Given the description of an element on the screen output the (x, y) to click on. 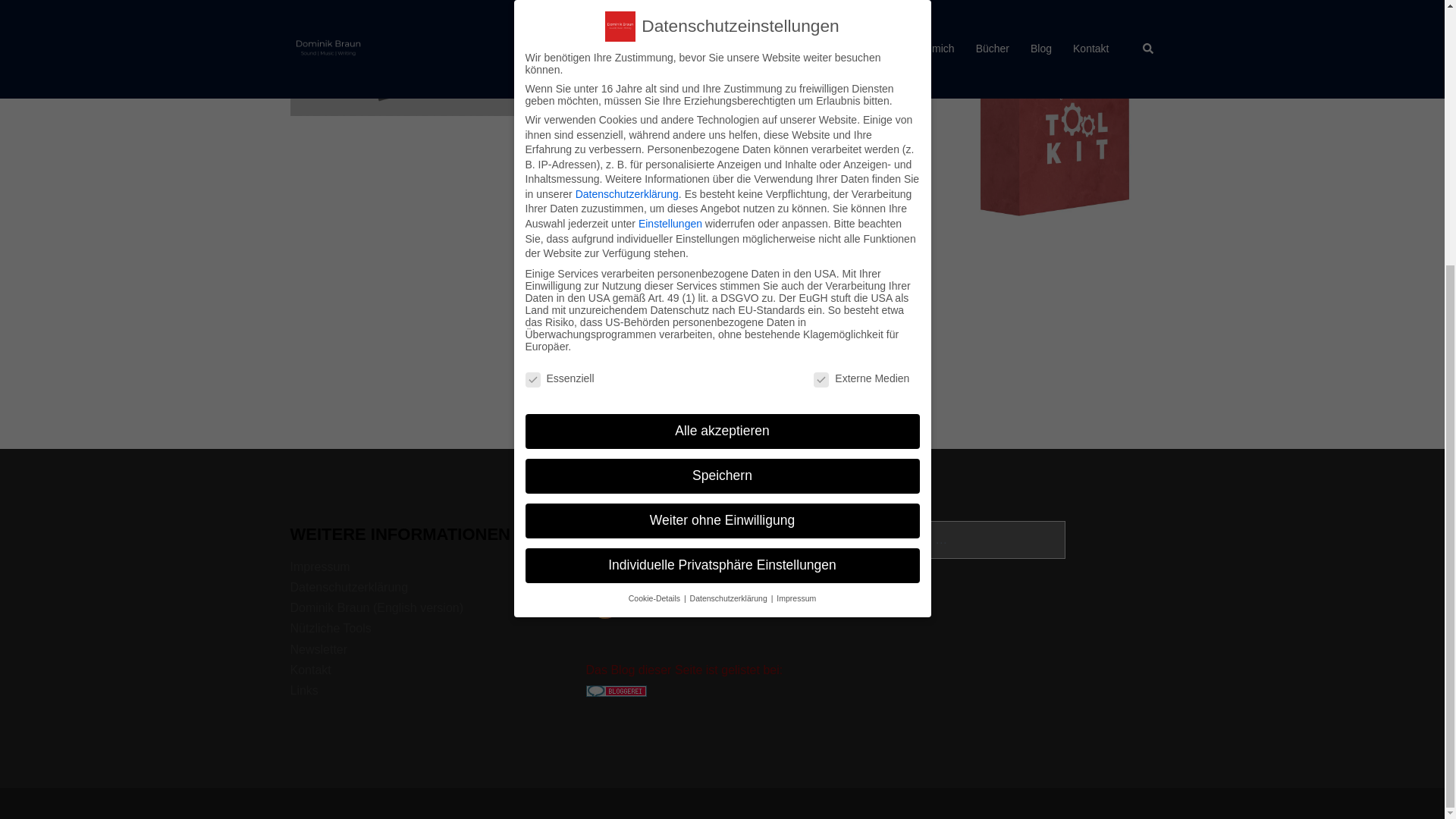
Twitter (672, 563)
in-depth blog post (723, 237)
Impressum (319, 566)
Download (670, 186)
YouTube (707, 563)
Facebook (638, 563)
RSS (603, 563)
LinkedIn (740, 563)
